Given the description of an element on the screen output the (x, y) to click on. 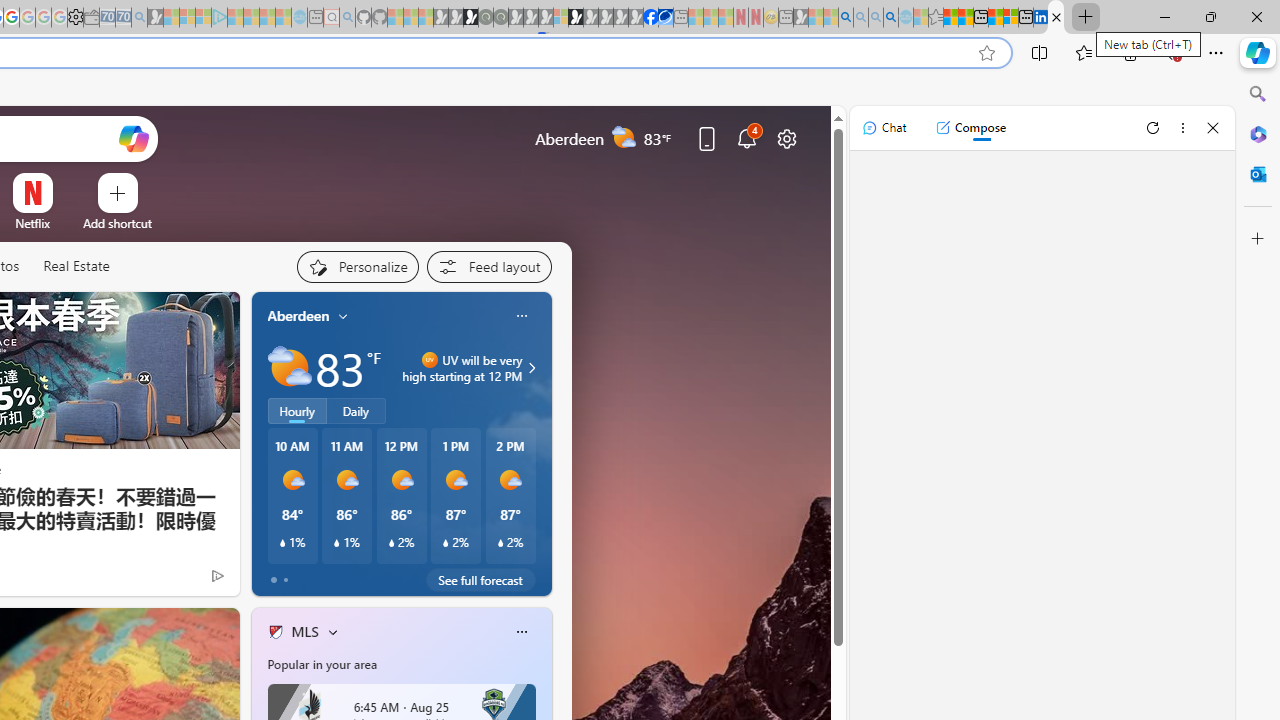
My location (343, 315)
AQI & Health | AirNow.gov (666, 17)
Add a site (117, 223)
